Given the description of an element on the screen output the (x, y) to click on. 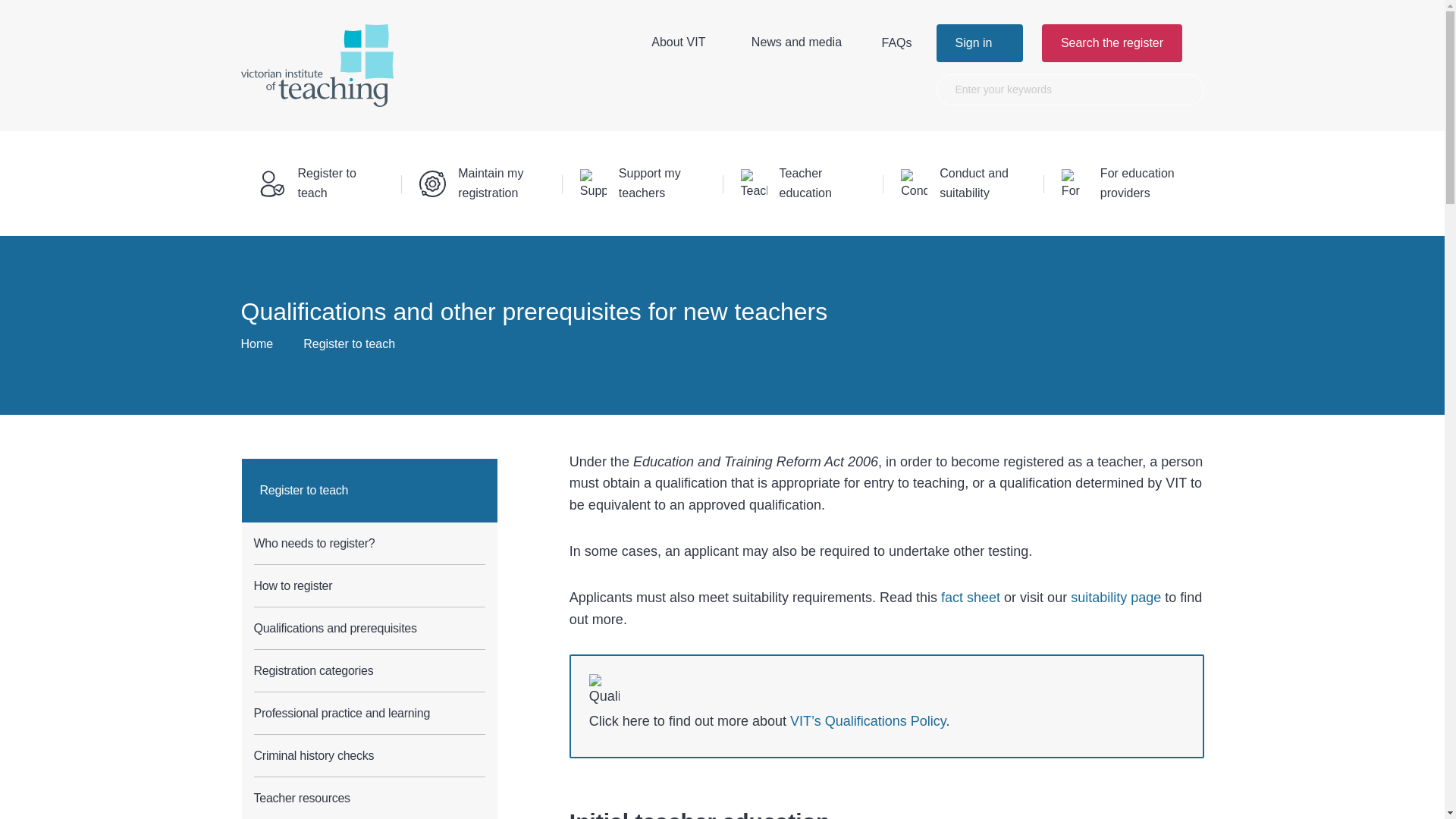
Sign in (979, 43)
FAQs (905, 42)
Search the register (1112, 43)
Home (257, 343)
Victorian institute of teaching (317, 65)
About VIT (687, 42)
Register to teach (348, 343)
News and media (805, 42)
